Given the description of an element on the screen output the (x, y) to click on. 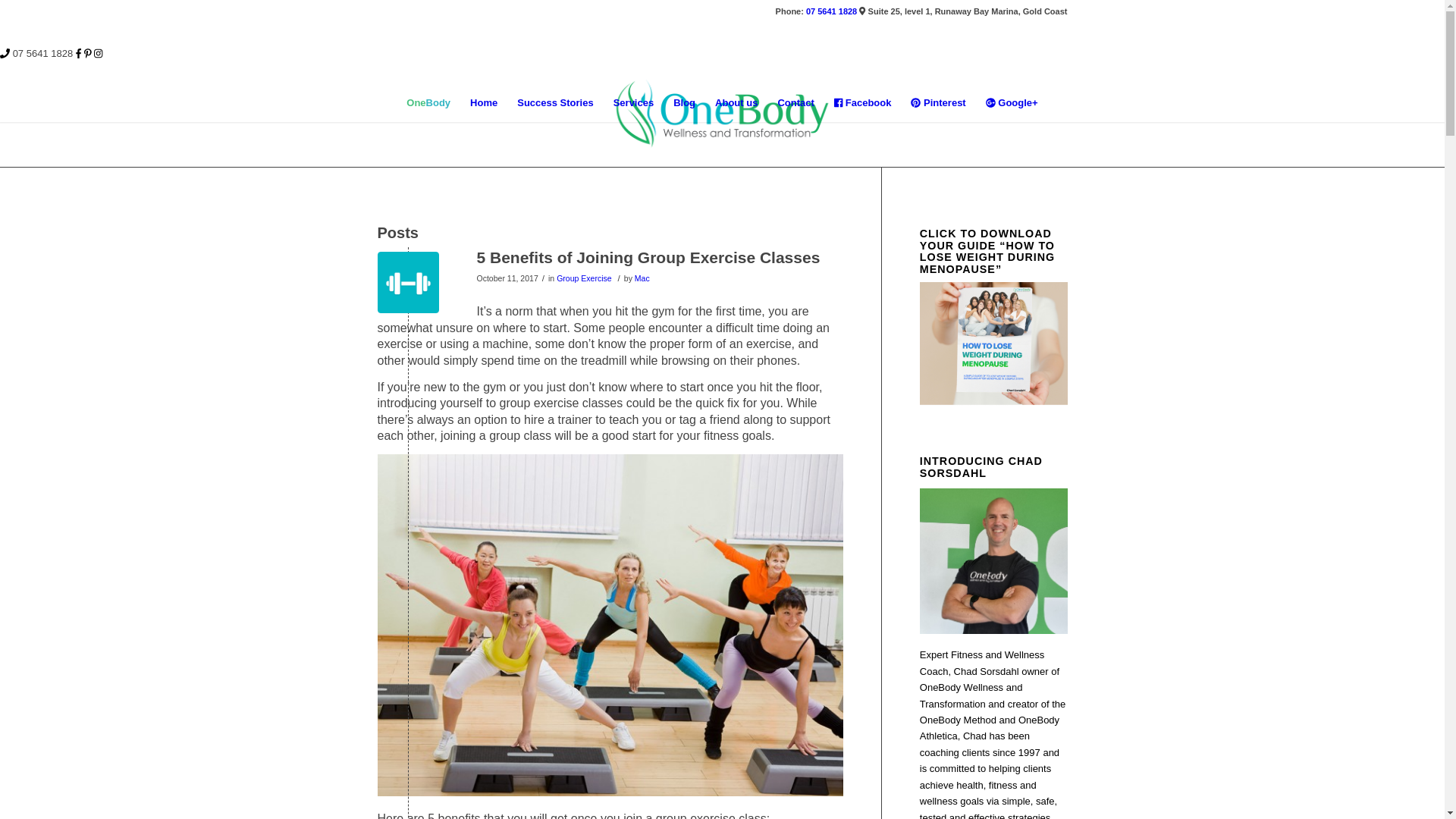
Facebook Element type: text (862, 103)
Blog Element type: text (684, 103)
Google+ Element type: text (1011, 103)
Mac Element type: text (641, 277)
07 5641 1828 Element type: text (831, 10)
Group Exercise Element type: text (583, 277)
dumbbell Element type: hover (408, 282)
Success Stories Element type: text (554, 103)
OneBody Element type: text (428, 103)
One Body Logo Element type: hover (722, 113)
Pinterest Element type: text (937, 103)
Home Element type: text (483, 103)
About us Element type: text (736, 103)
07 5641 1828 Element type: text (42, 53)
Contact Element type: text (795, 103)
5 Benefits of Joining Group Exercise Classes Element type: text (647, 257)
Services Element type: text (633, 103)
